Given the description of an element on the screen output the (x, y) to click on. 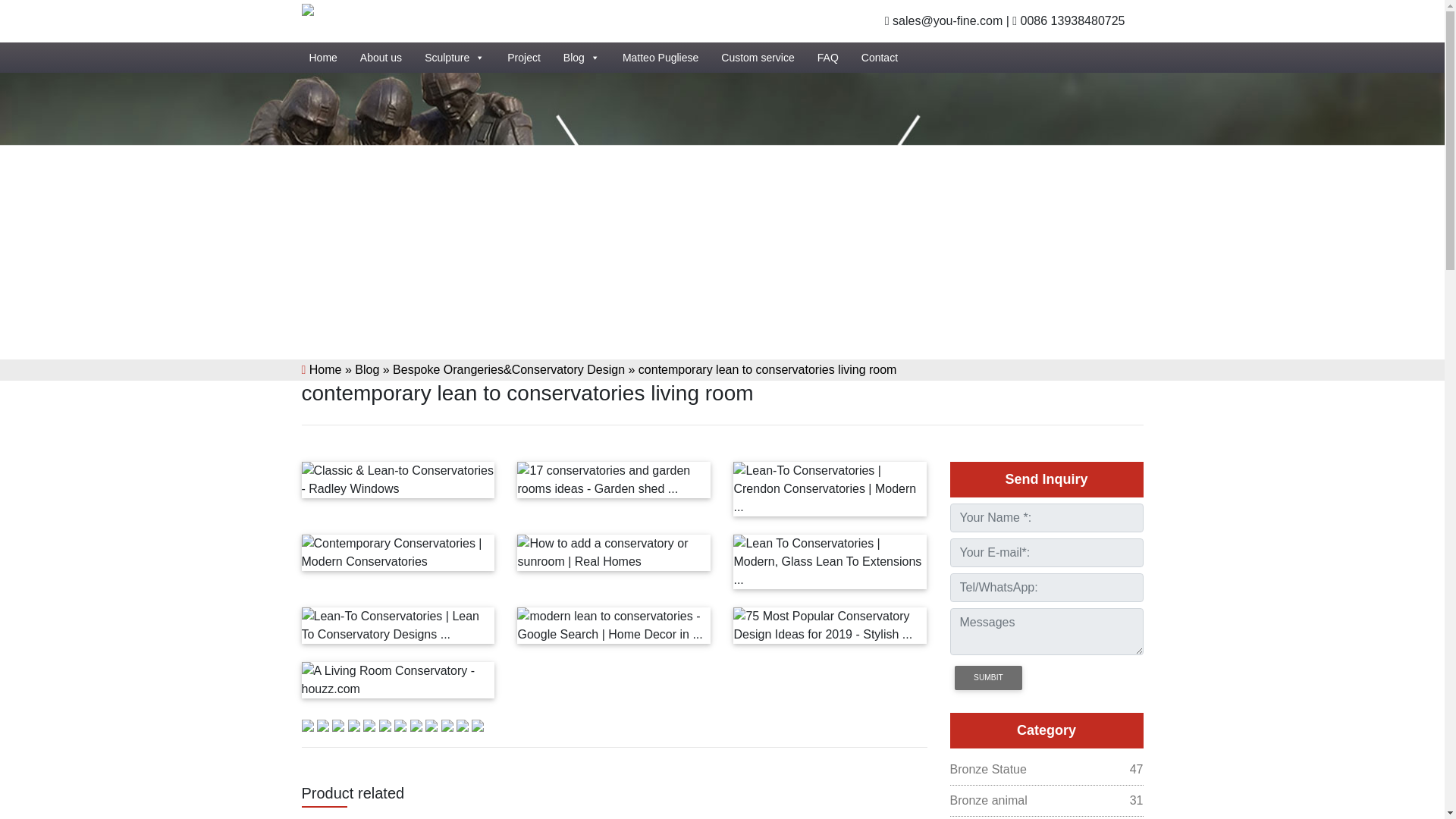
FAQ (827, 57)
SUMBIT (987, 677)
Custom service (757, 57)
Blog (1045, 800)
Project (1045, 769)
Sculpture (581, 57)
Home (523, 57)
Blog (454, 57)
